Given the description of an element on the screen output the (x, y) to click on. 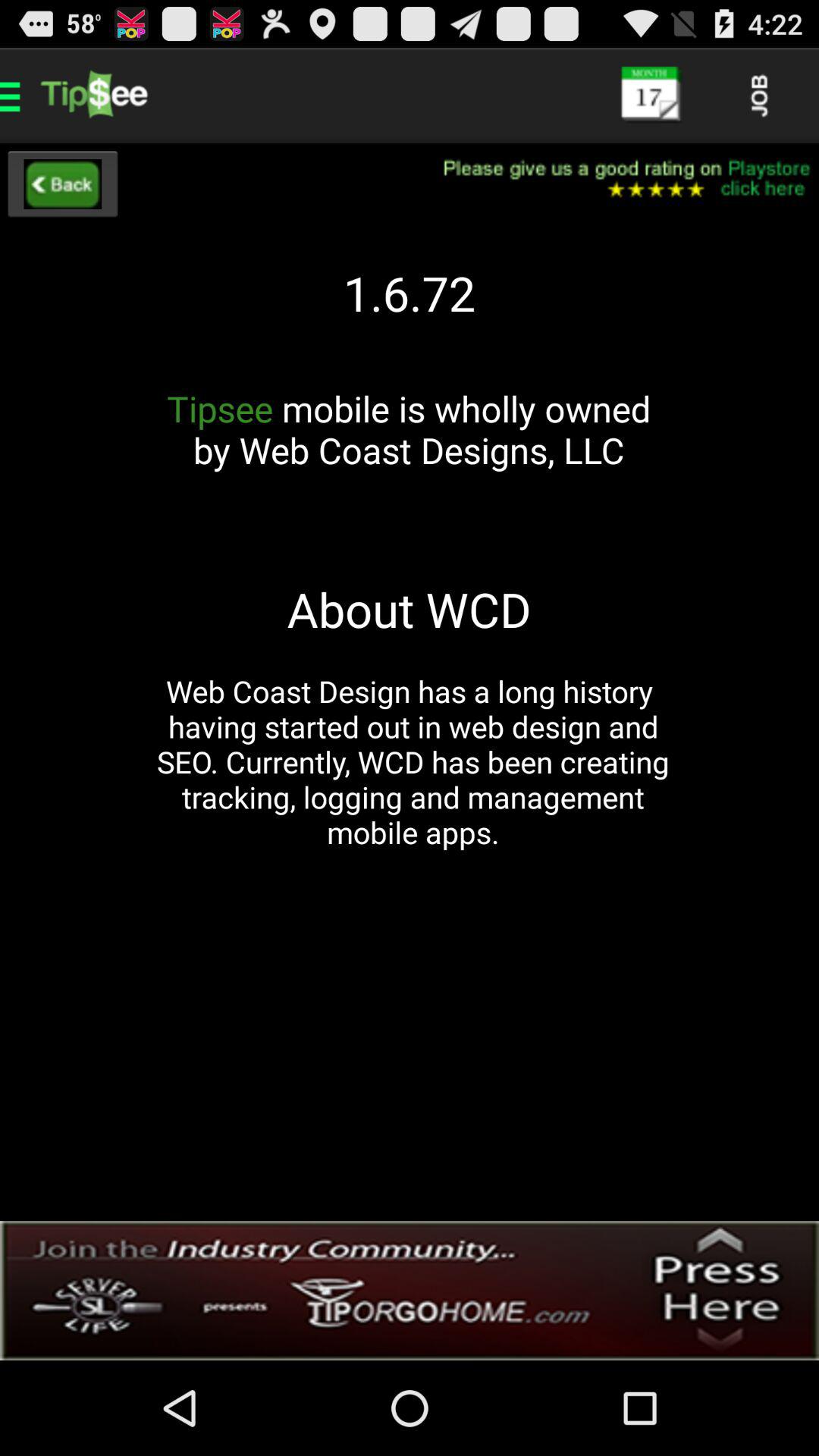
select icon above about wcd app (409, 450)
